Given the description of an element on the screen output the (x, y) to click on. 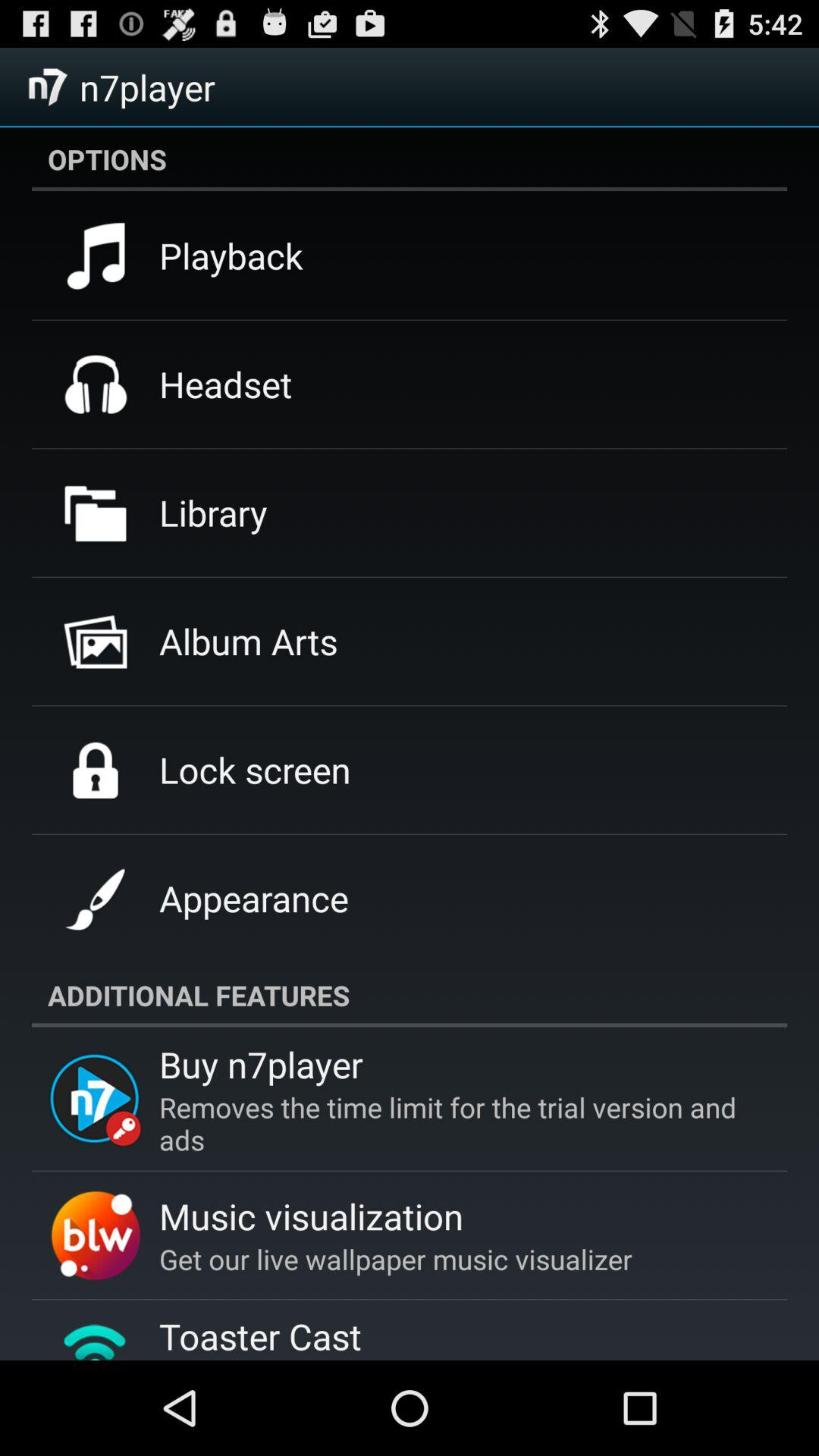
choose the item above the headset icon (231, 255)
